Given the description of an element on the screen output the (x, y) to click on. 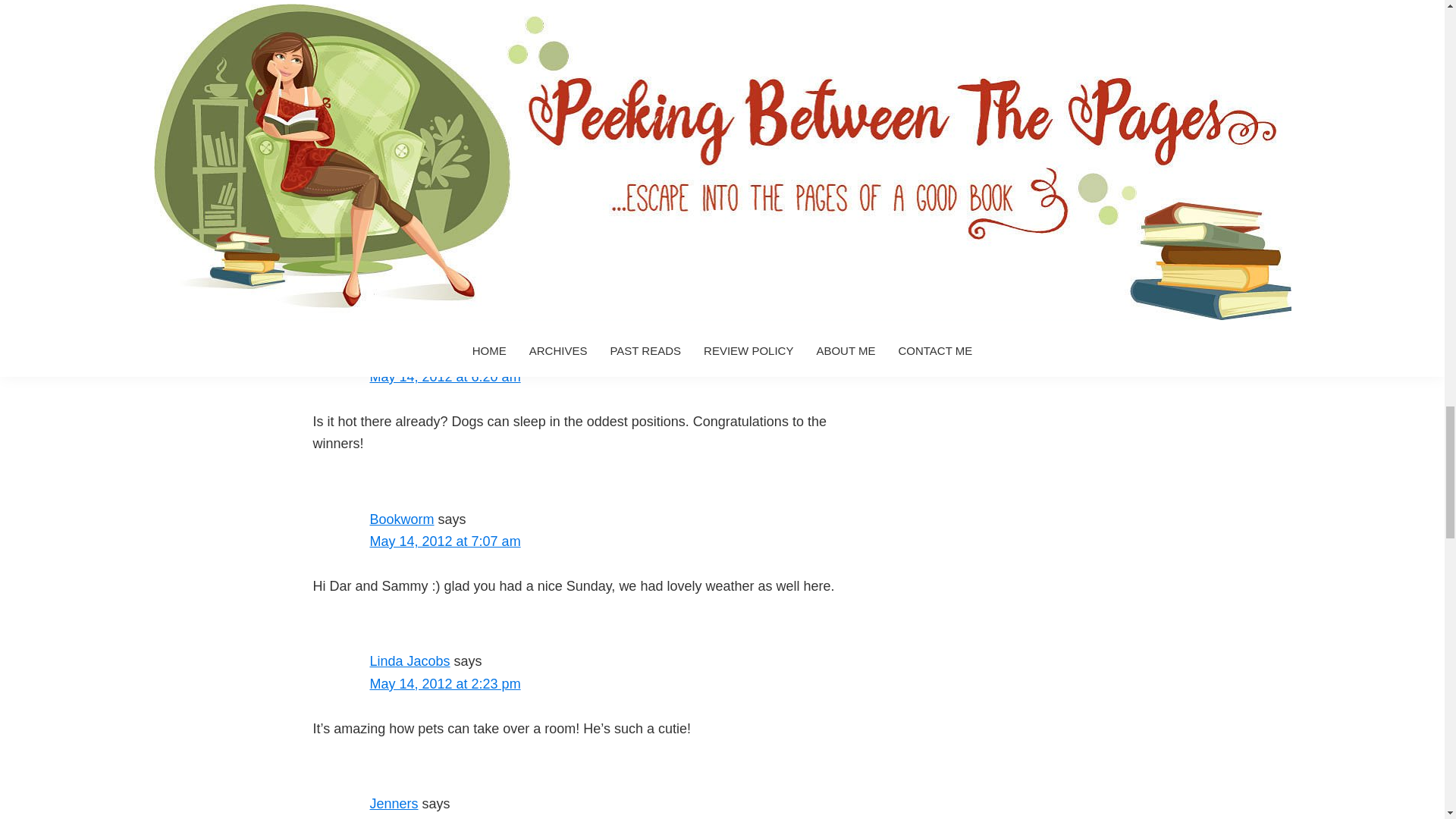
May 13, 2012 at 10:59 pm (448, 233)
May 14, 2012 at 6:20 am (445, 376)
Jenners (394, 803)
Sammy Pictures (508, 78)
Sammy Stuff (593, 78)
blodeuedd (401, 212)
Bookworm (401, 519)
Sunday Ramblings (685, 78)
May 14, 2012 at 7:07 am (445, 540)
May 14, 2012 at 2:23 pm (445, 683)
